Given the description of an element on the screen output the (x, y) to click on. 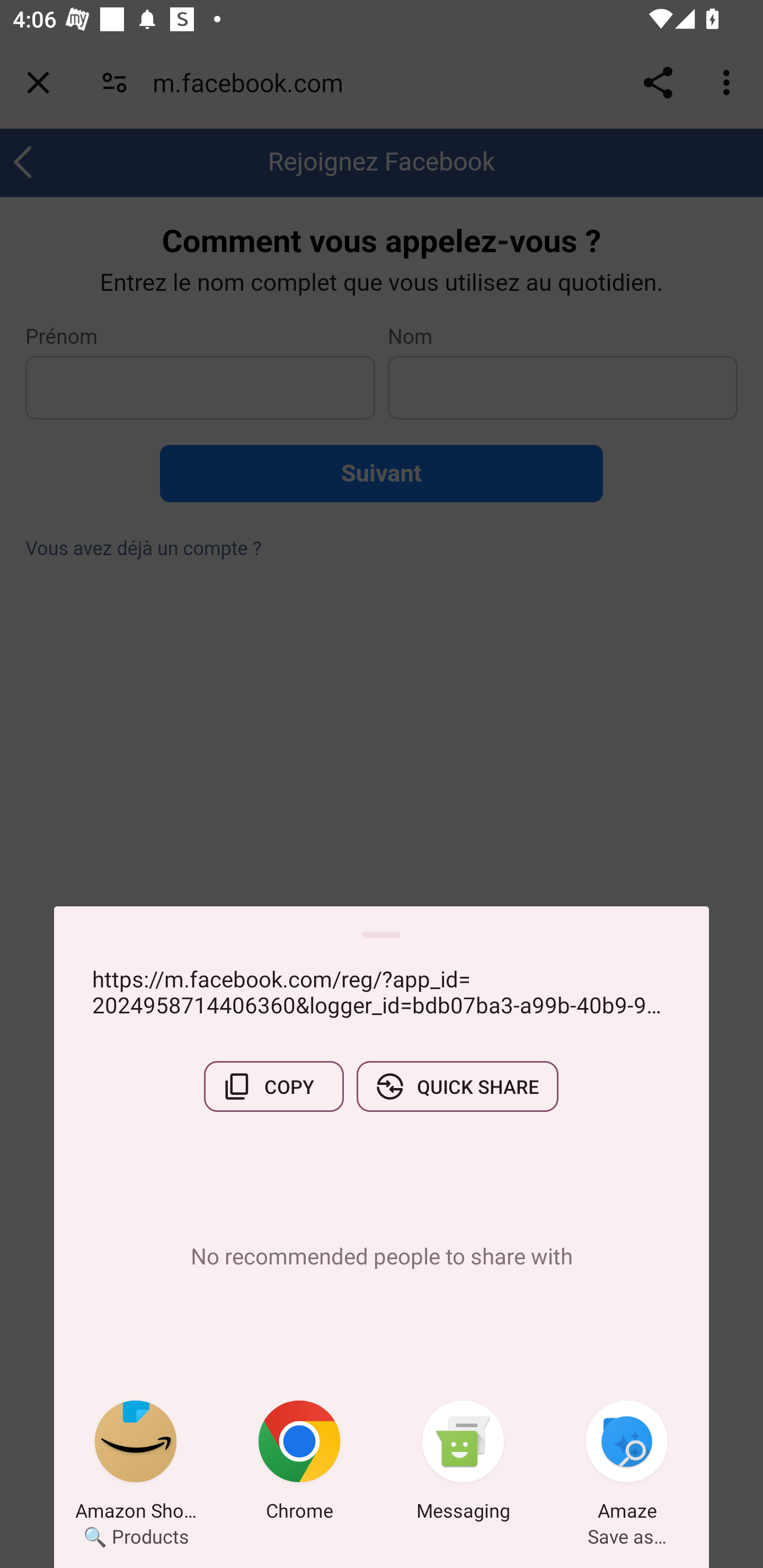
COPY (273, 1086)
QUICK SHARE (457, 1086)
Amazon Shopping 🔍 Products (135, 1463)
Chrome (299, 1463)
Messaging (463, 1463)
Amaze Save as… (626, 1463)
